Given the description of an element on the screen output the (x, y) to click on. 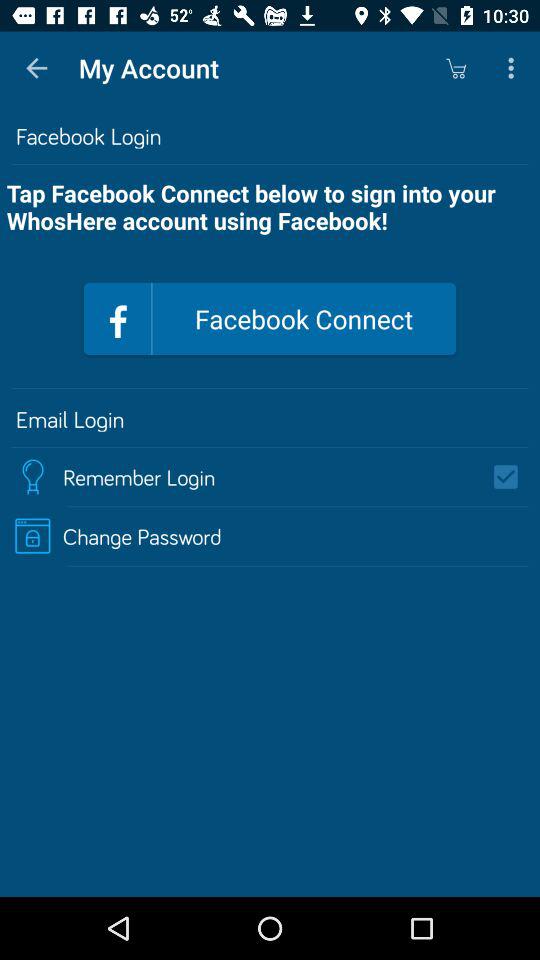
click item above the facebook login item (36, 68)
